Given the description of an element on the screen output the (x, y) to click on. 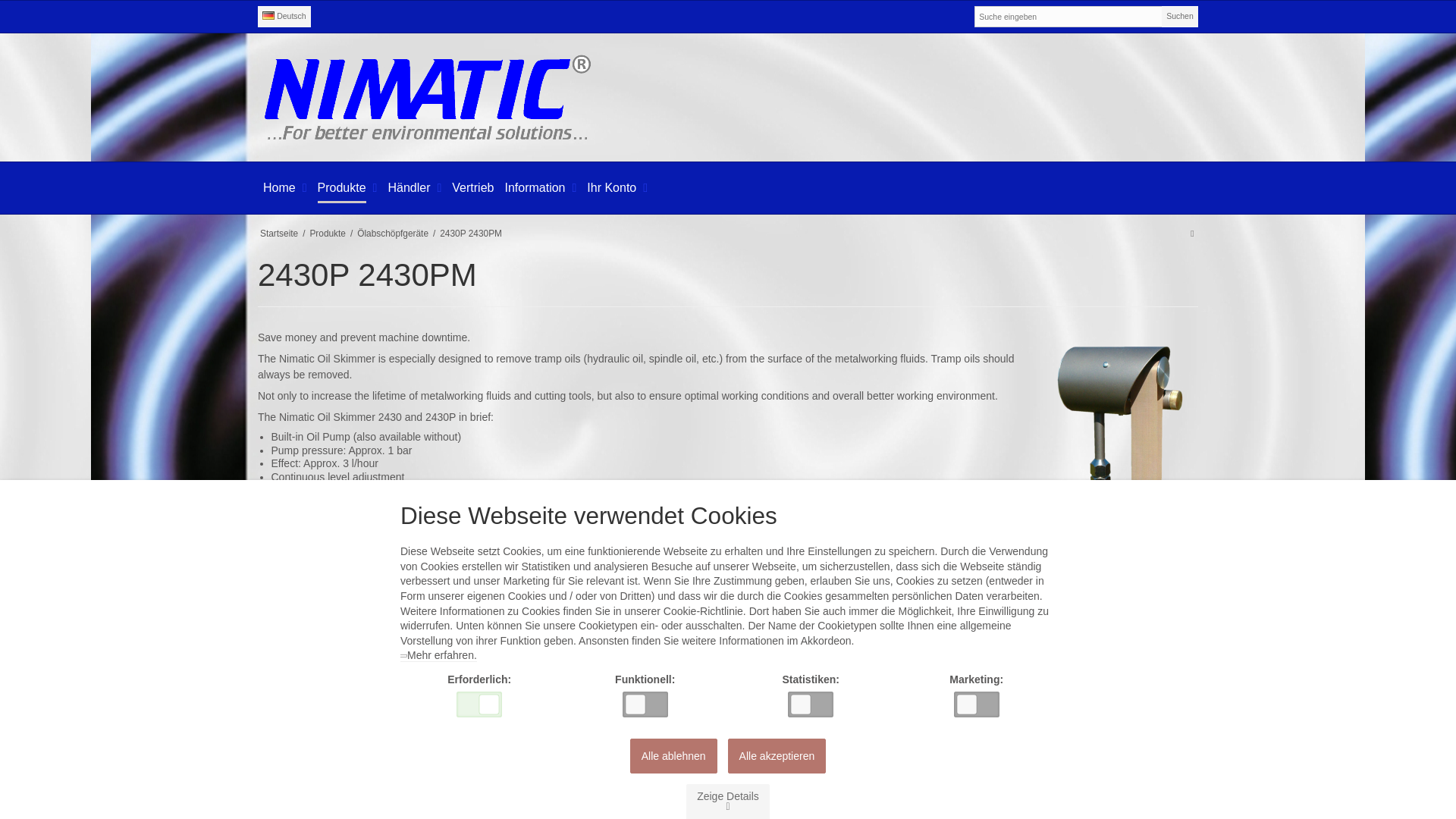
Suchen (1179, 16)
Home (279, 187)
Nimatic ApS (727, 97)
Home (279, 187)
Produkte (341, 187)
Deutsch (284, 16)
Produkte (341, 187)
